Given the description of an element on the screen output the (x, y) to click on. 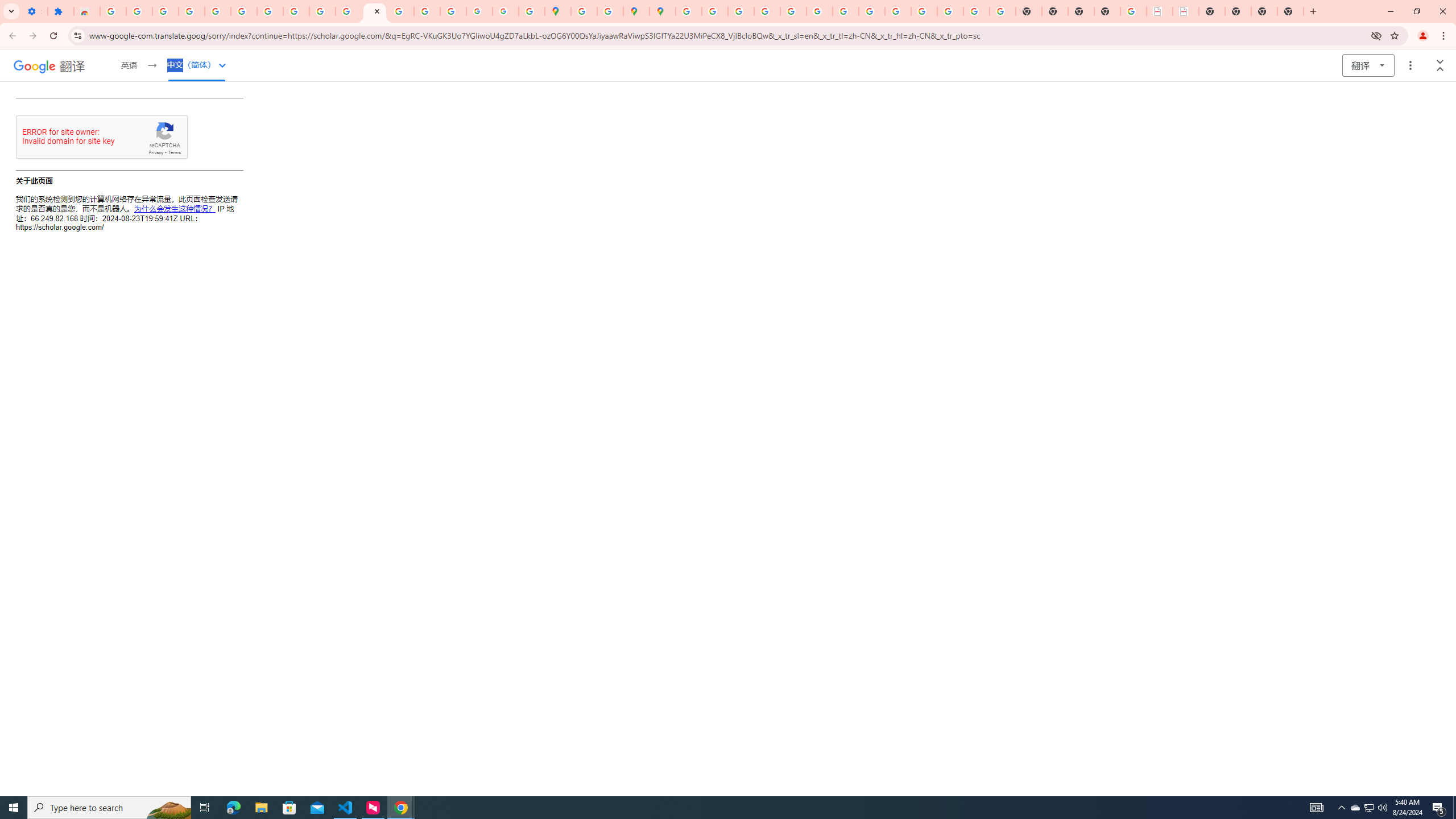
BAE Systems Brasil | BAE Systems (1185, 11)
YouTube (322, 11)
Google Maps (558, 11)
Delete photos & videos - Computer - Google Photos Help (165, 11)
Sign in - Google Accounts (243, 11)
Privacy Help Center - Policies Help (766, 11)
LAAD Defence & Security 2025 | BAE Systems (1159, 11)
